Given the description of an element on the screen output the (x, y) to click on. 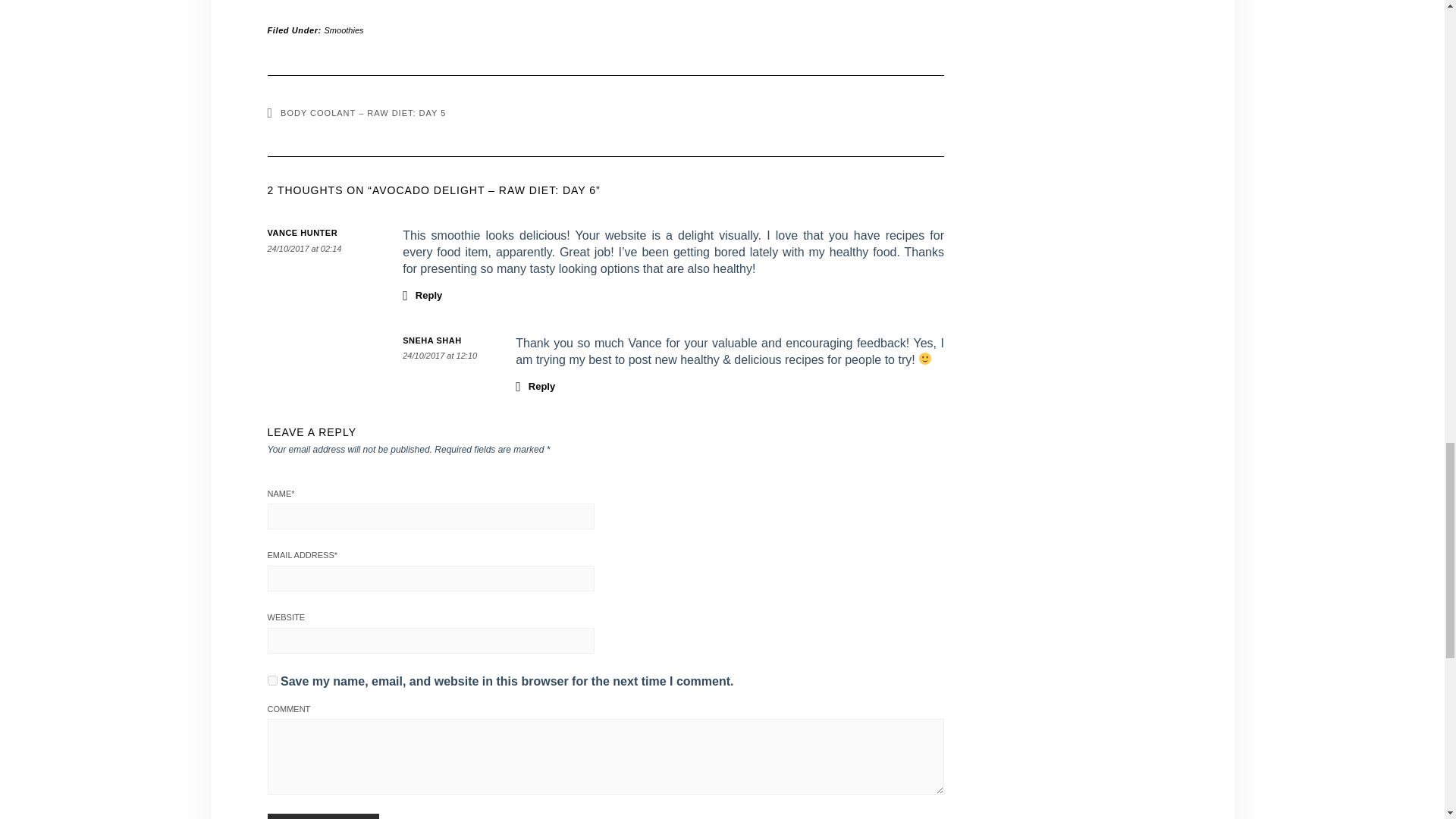
Reply (534, 385)
Post Comment (322, 816)
yes (271, 680)
Reply (422, 294)
